Given the description of an element on the screen output the (x, y) to click on. 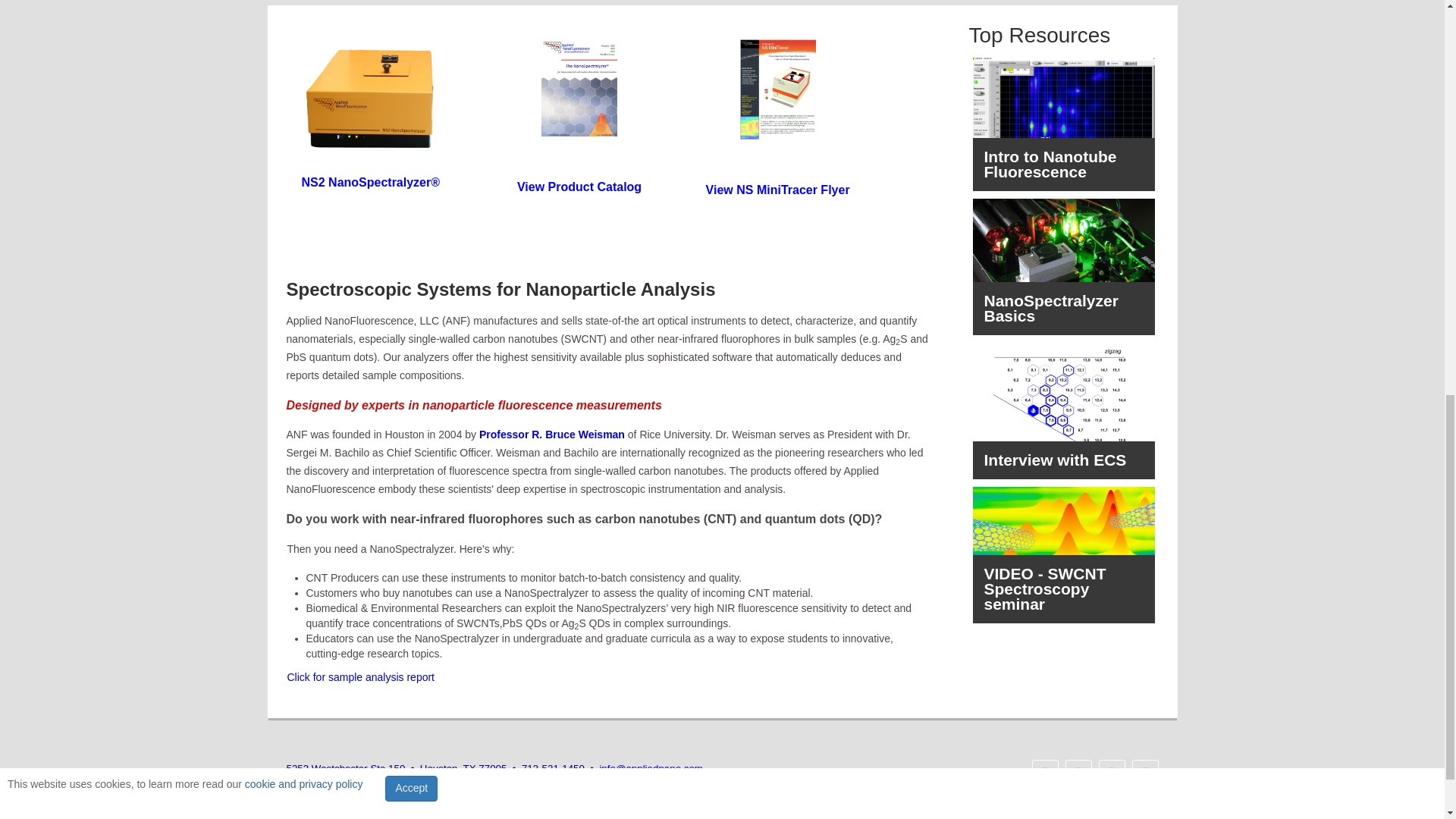
Typical nanotube analysis (359, 676)
